Given the description of an element on the screen output the (x, y) to click on. 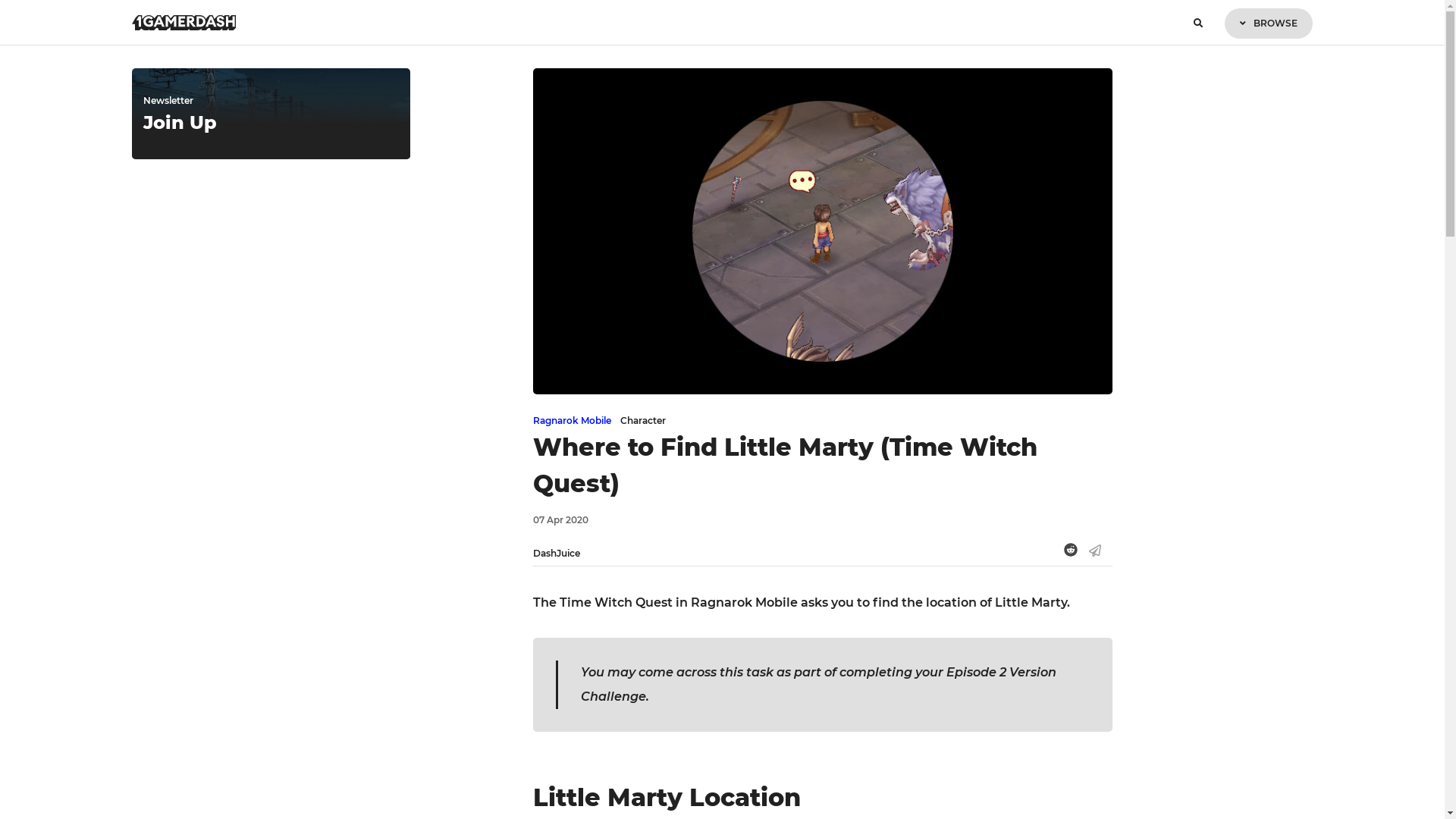
Where to Find Little Marty (Time Witch Quest) Element type: text (785, 465)
Character Element type: text (642, 420)
DashJuice Element type: text (556, 552)
Ragnarok Mobile Element type: text (572, 420)
